Given the description of an element on the screen output the (x, y) to click on. 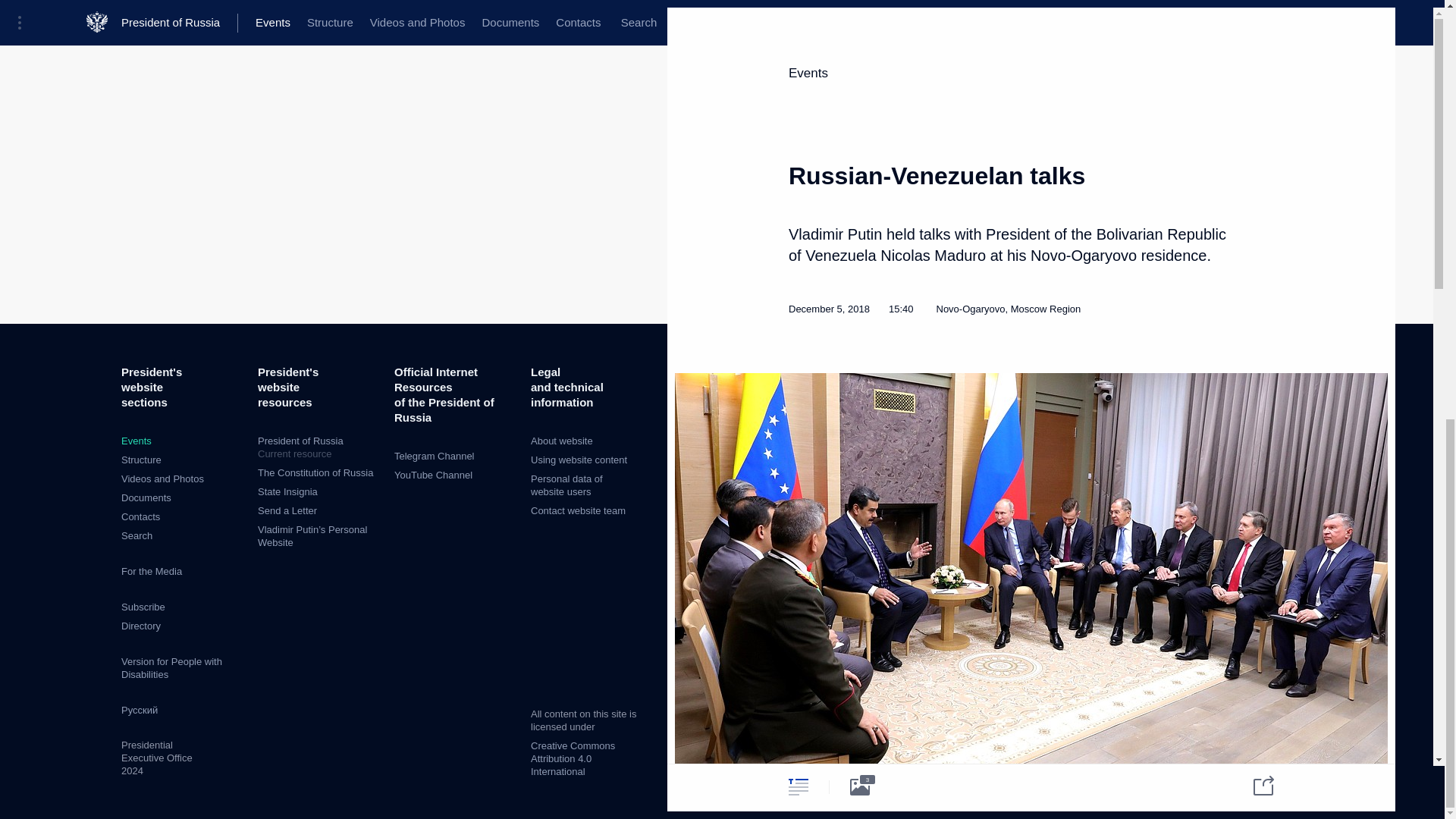
Using website content (579, 460)
Version for People with Disabilities (171, 668)
Search (136, 535)
Contact website team (578, 510)
Send a Letter (287, 510)
Telegram Channel (434, 455)
Events (135, 440)
Videos and Photos (161, 478)
The Constitution of Russia (314, 472)
Documents (145, 497)
